Given the description of an element on the screen output the (x, y) to click on. 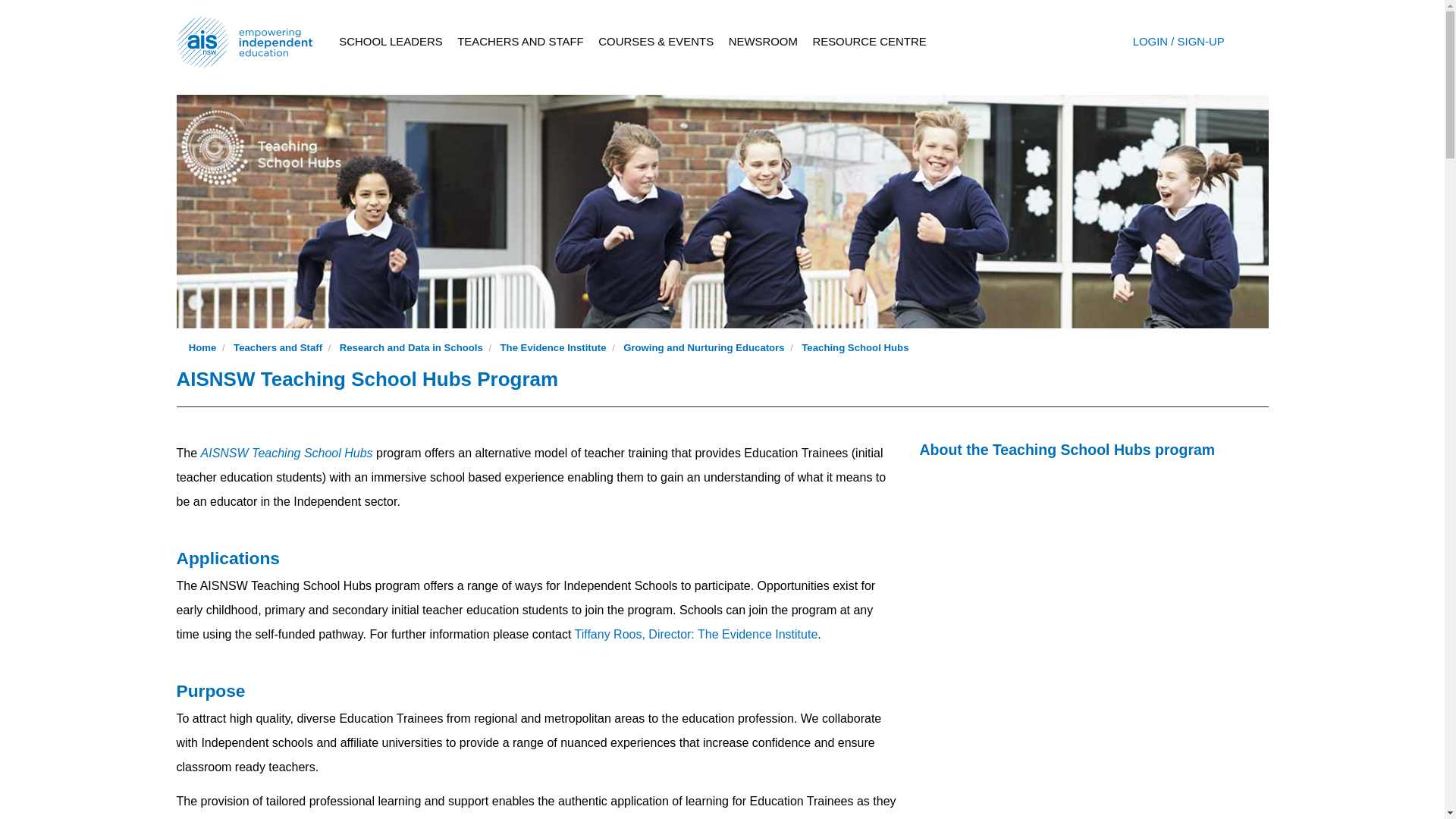
The Evidence Institute (553, 347)
SCHOOL LEADERS (390, 42)
Research and Data in Schools (411, 347)
Home (202, 347)
Teachers and Staff (276, 347)
TEACHERS AND STAFF (520, 42)
Teaching School Hubs (855, 347)
Growing and Nurturing Educators (703, 347)
